Given the description of an element on the screen output the (x, y) to click on. 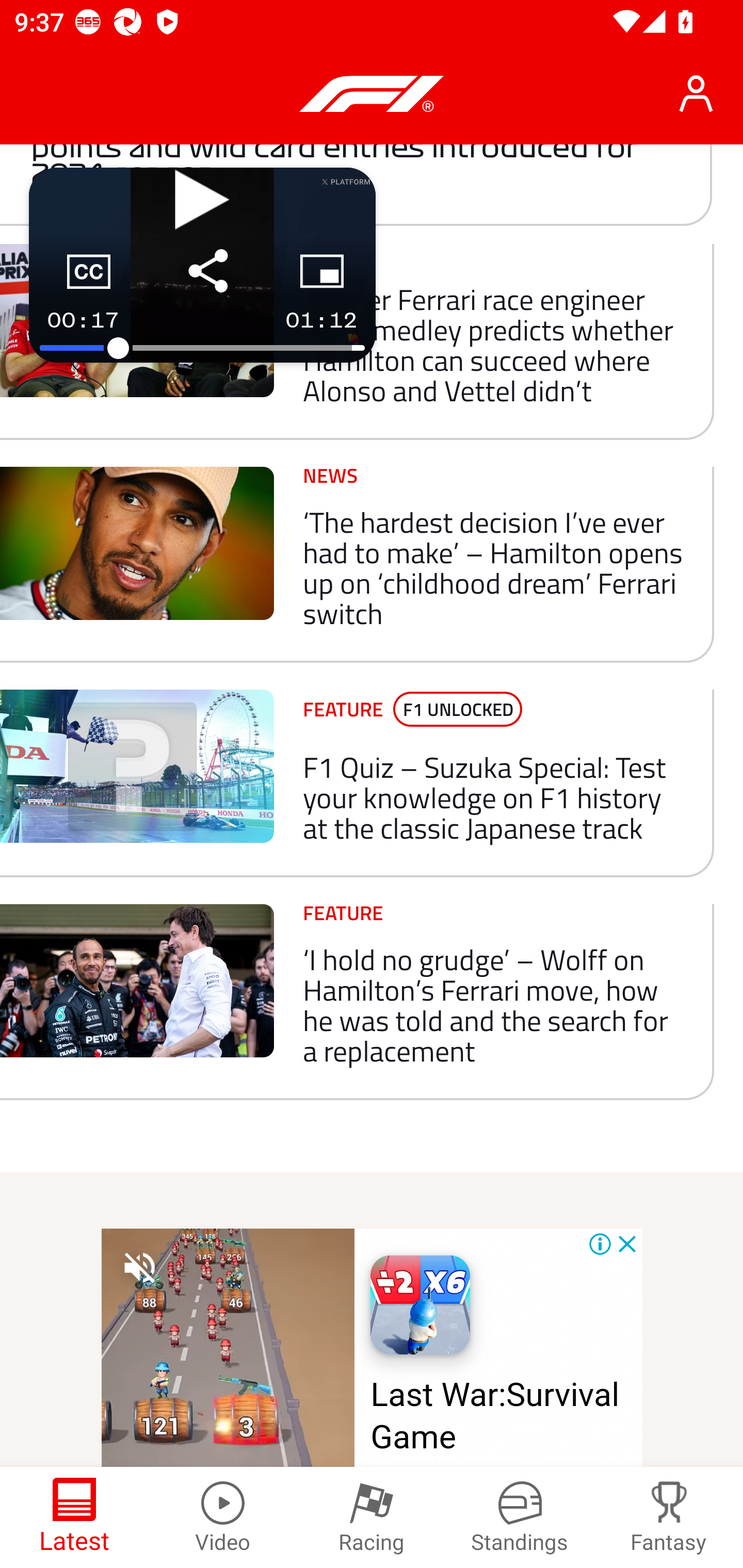
Video (222, 1517)
Racing (371, 1517)
Standings (519, 1517)
Fantasy (668, 1517)
